Given the description of an element on the screen output the (x, y) to click on. 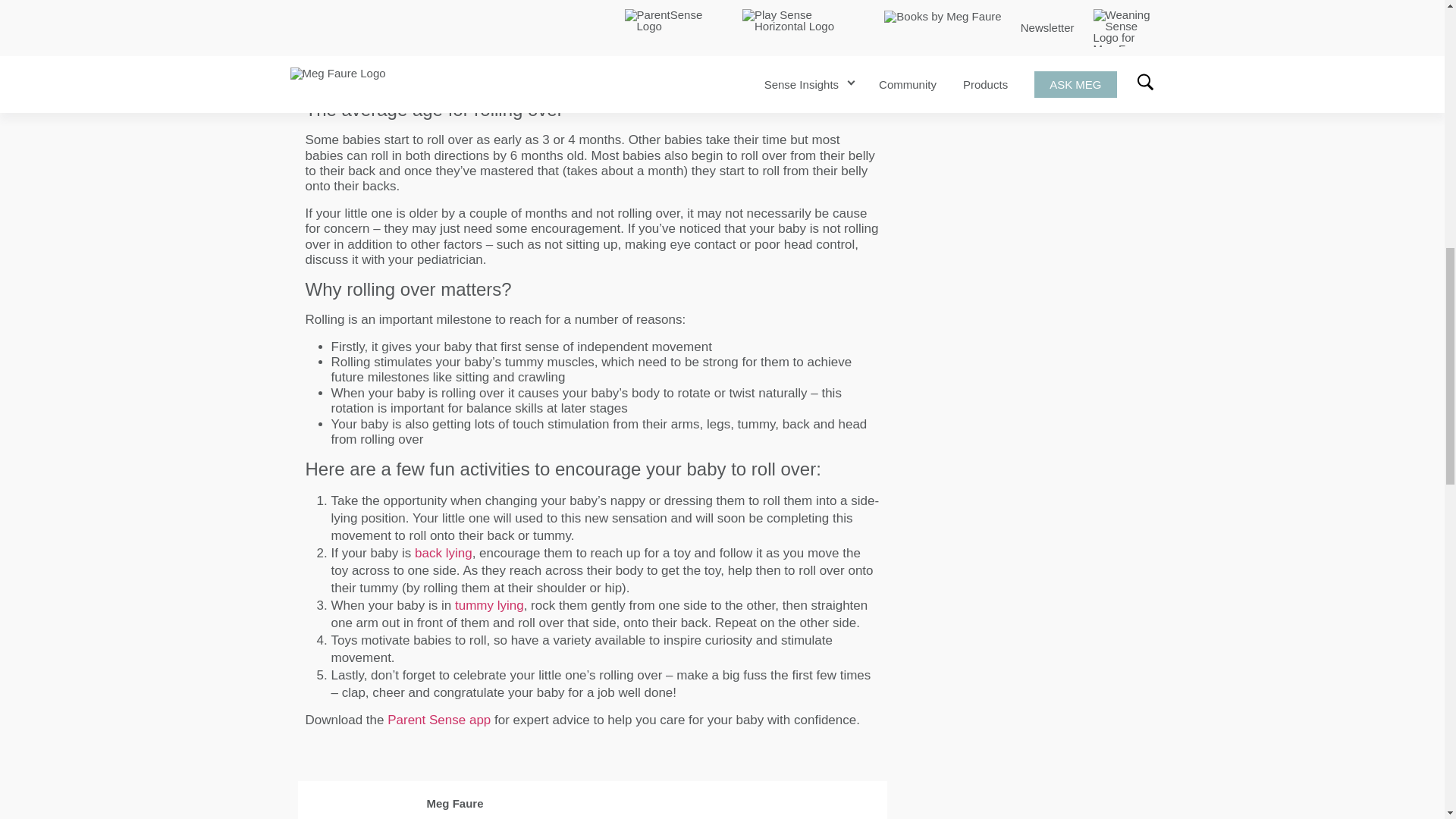
Parent Sense app (438, 719)
Podcasts (928, 2)
developmental milestones (379, 64)
tummy lying (489, 605)
Sense Courses (1007, 2)
back lying (442, 553)
